Given the description of an element on the screen output the (x, y) to click on. 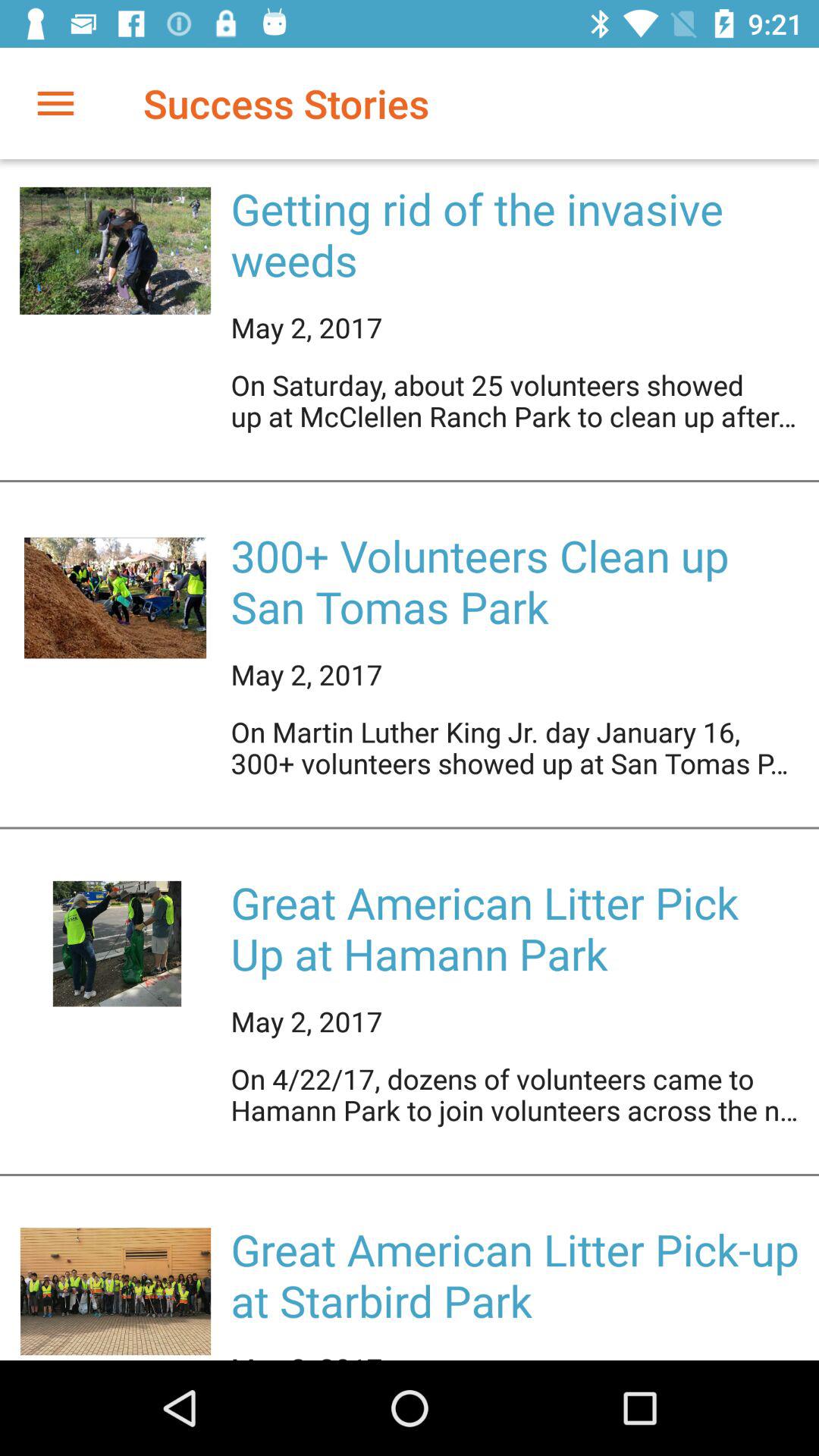
tap the item to the left of the success stories item (55, 103)
